Given the description of an element on the screen output the (x, y) to click on. 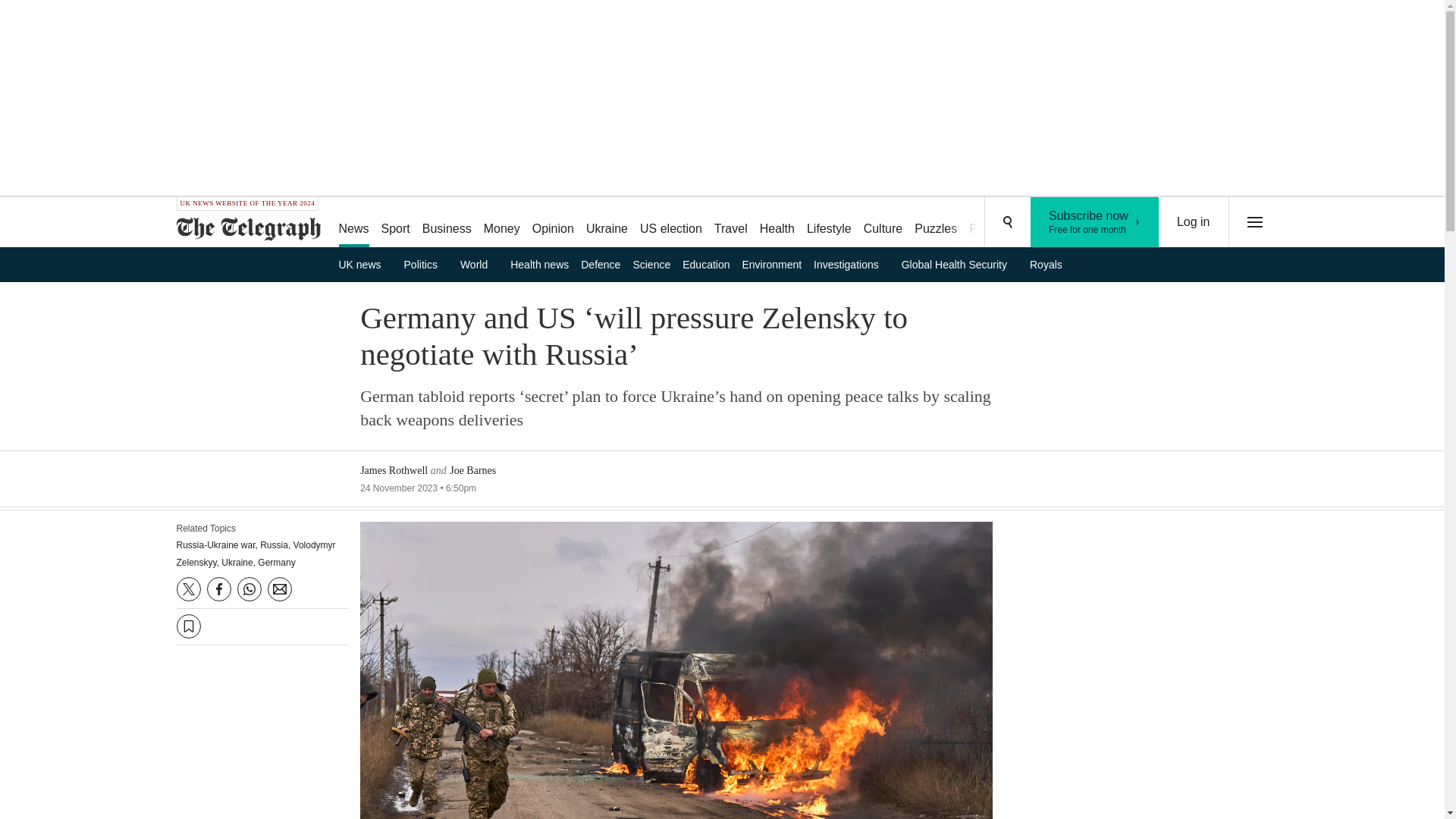
Travel (1094, 222)
Health (730, 223)
World (777, 223)
Log in (478, 264)
Politics (1193, 222)
Money (425, 264)
US election (501, 223)
Opinion (670, 223)
UK news (552, 223)
